Given the description of an element on the screen output the (x, y) to click on. 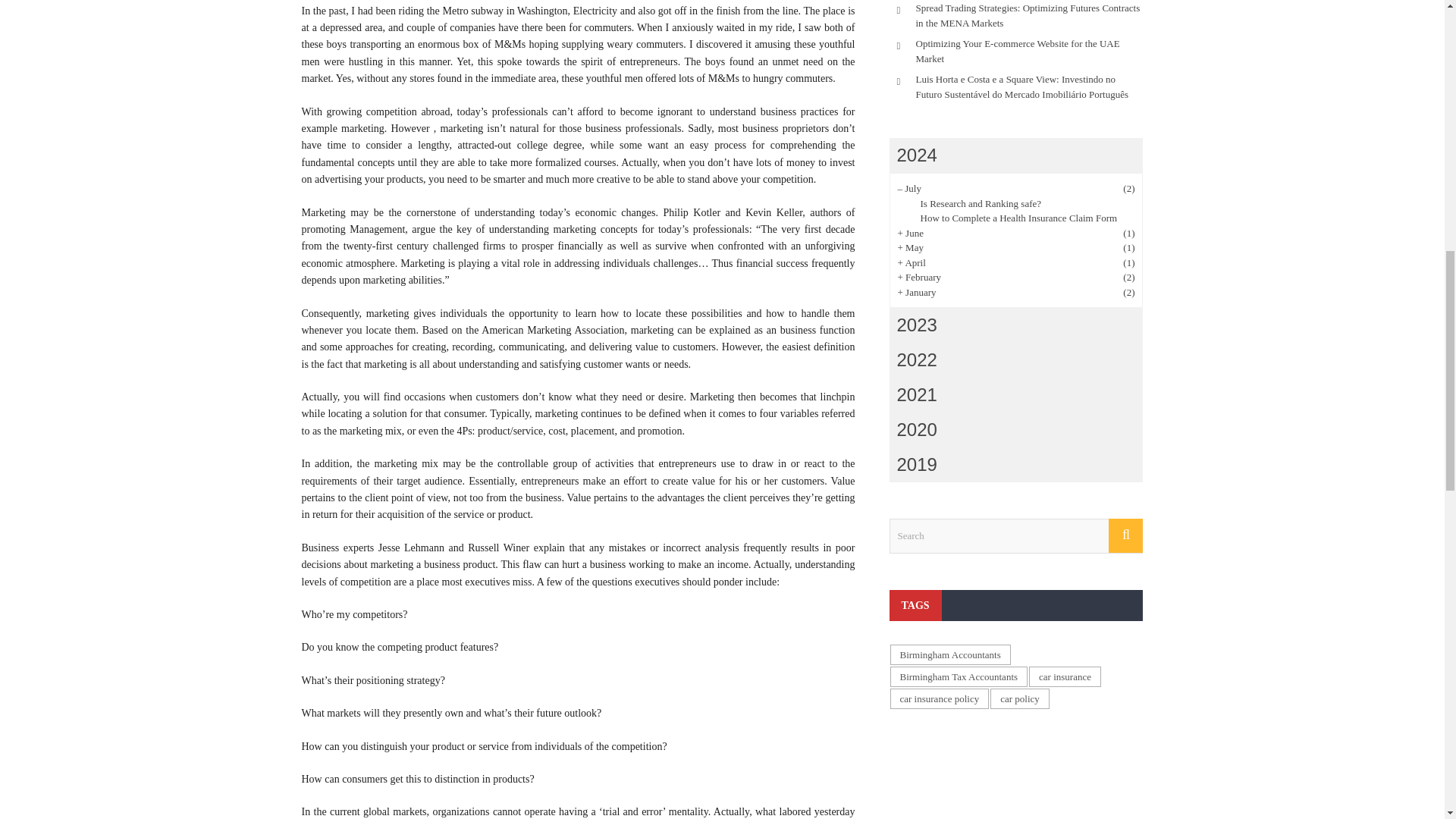
Search (1015, 535)
